Given the description of an element on the screen output the (x, y) to click on. 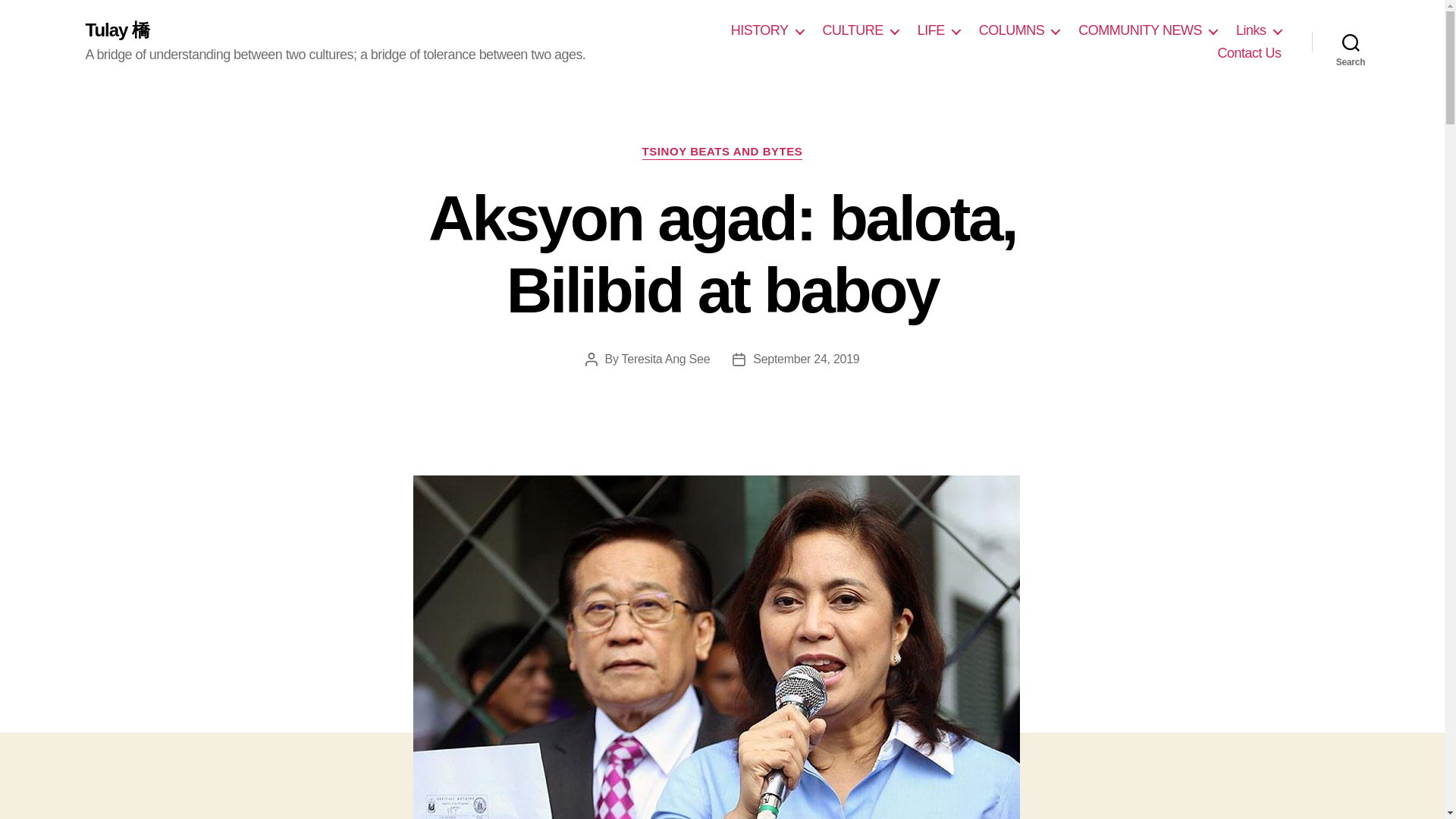
Links (1258, 30)
Contact Us (1249, 53)
Search (1350, 41)
LIFE (938, 30)
COMMUNITY NEWS (1147, 30)
HISTORY (766, 30)
COLUMNS (1018, 30)
CULTURE (860, 30)
